Given the description of an element on the screen output the (x, y) to click on. 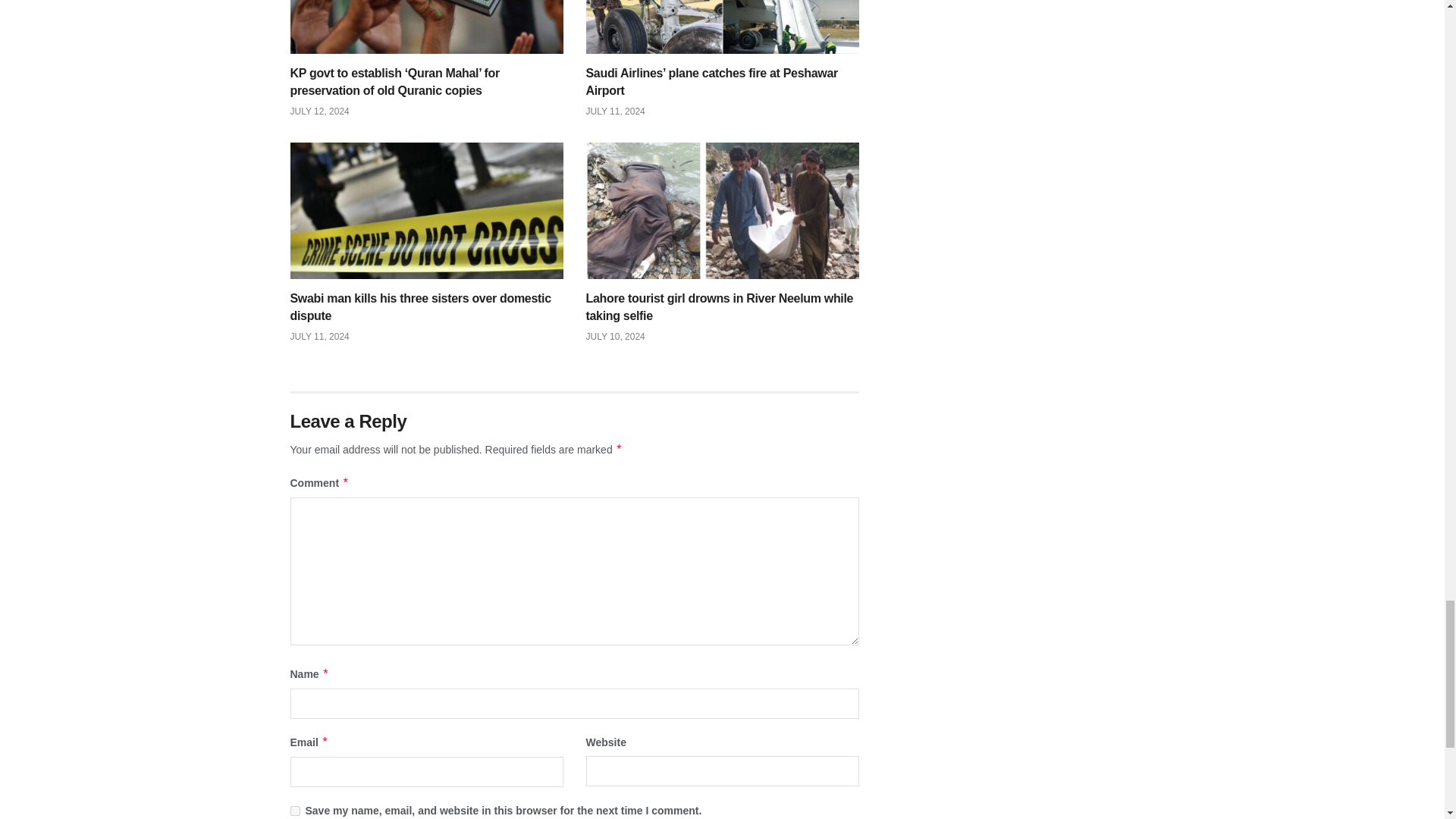
yes (294, 810)
